Given the description of an element on the screen output the (x, y) to click on. 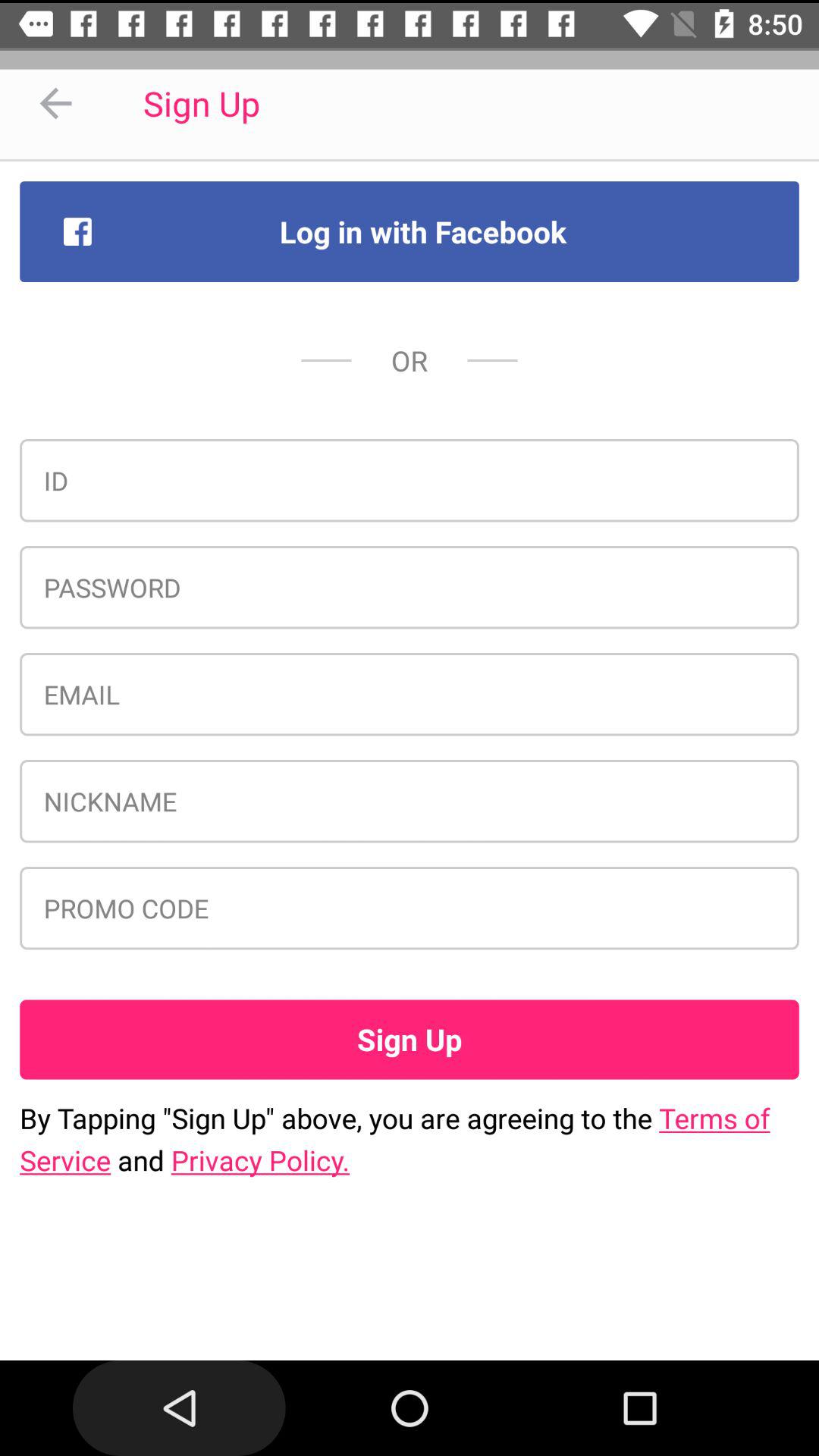
flip to the log in with item (409, 231)
